Given the description of an element on the screen output the (x, y) to click on. 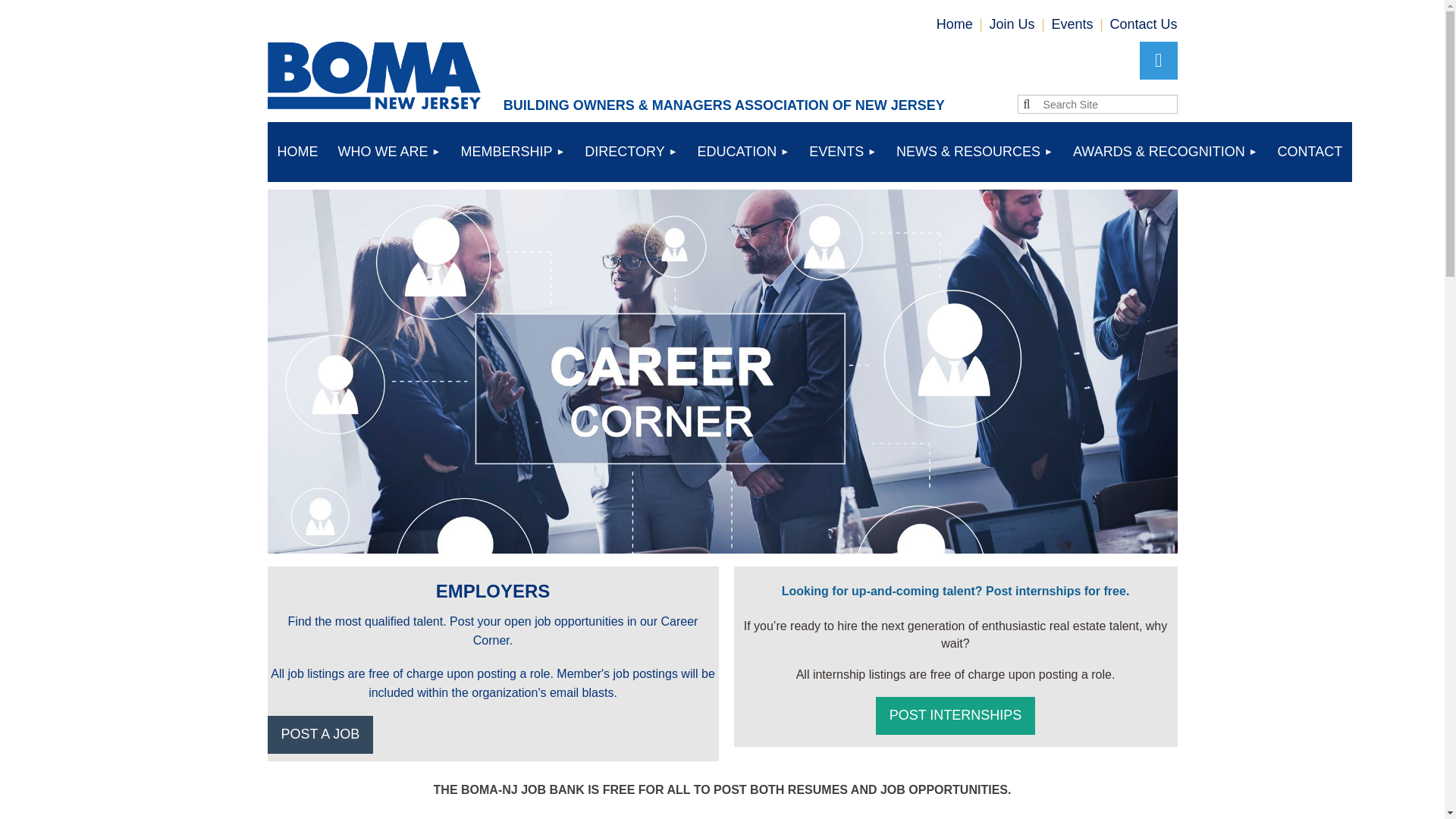
Log in (1157, 60)
Events (1072, 23)
Contact Us (1142, 23)
Join Us (1012, 23)
Home (954, 23)
